Given the description of an element on the screen output the (x, y) to click on. 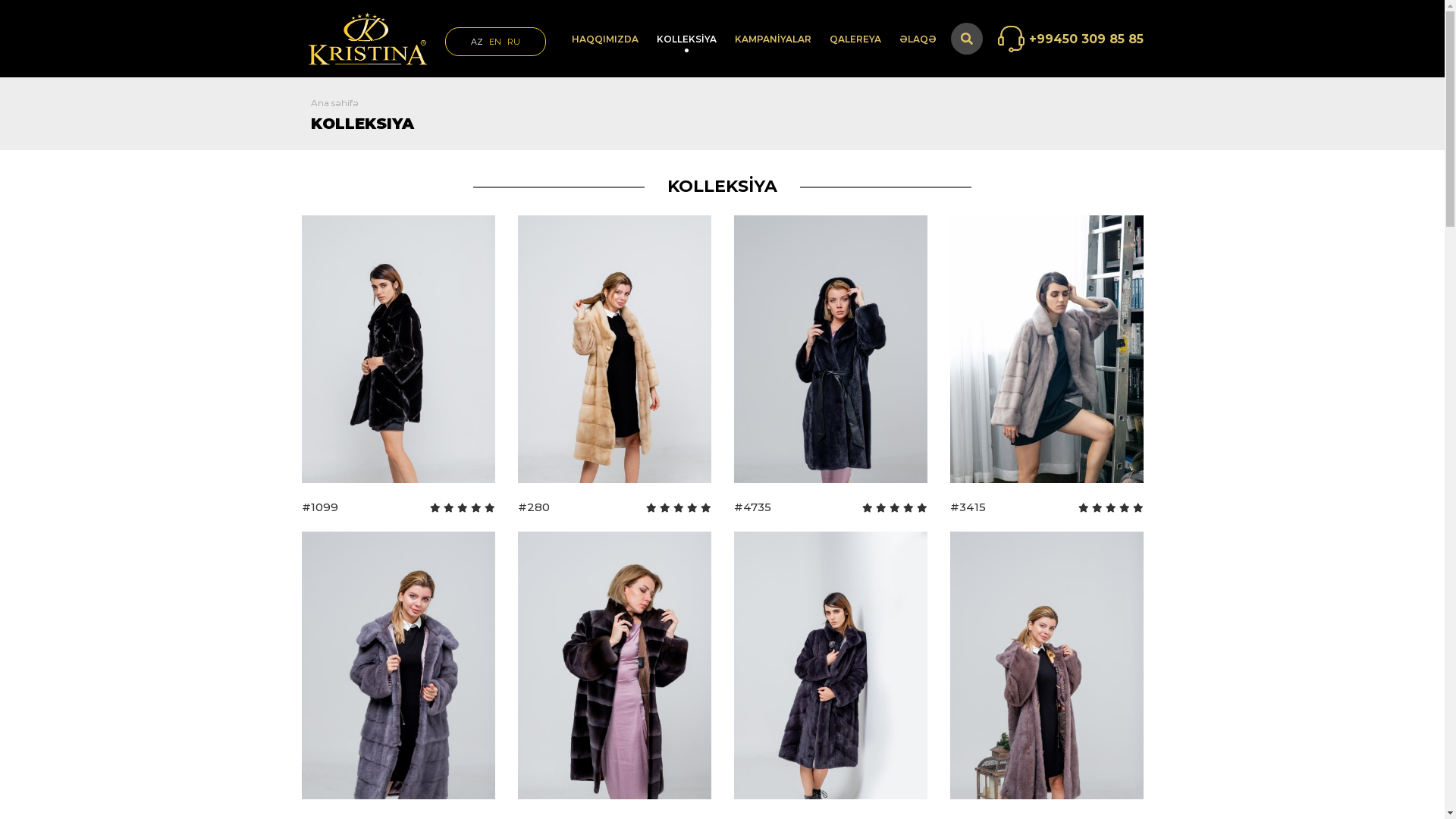
QALEREYA Element type: text (849, 38)
AZ Element type: text (476, 41)
#4735 Element type: text (830, 373)
RU Element type: text (512, 41)
Foto qalereya Element type: text (870, 70)
#280 Element type: text (613, 373)
EN Element type: text (494, 41)
HAQQIMIZDA Element type: text (598, 38)
#1099 Element type: text (398, 373)
#3415 Element type: text (1045, 373)
